Given the description of an element on the screen output the (x, y) to click on. 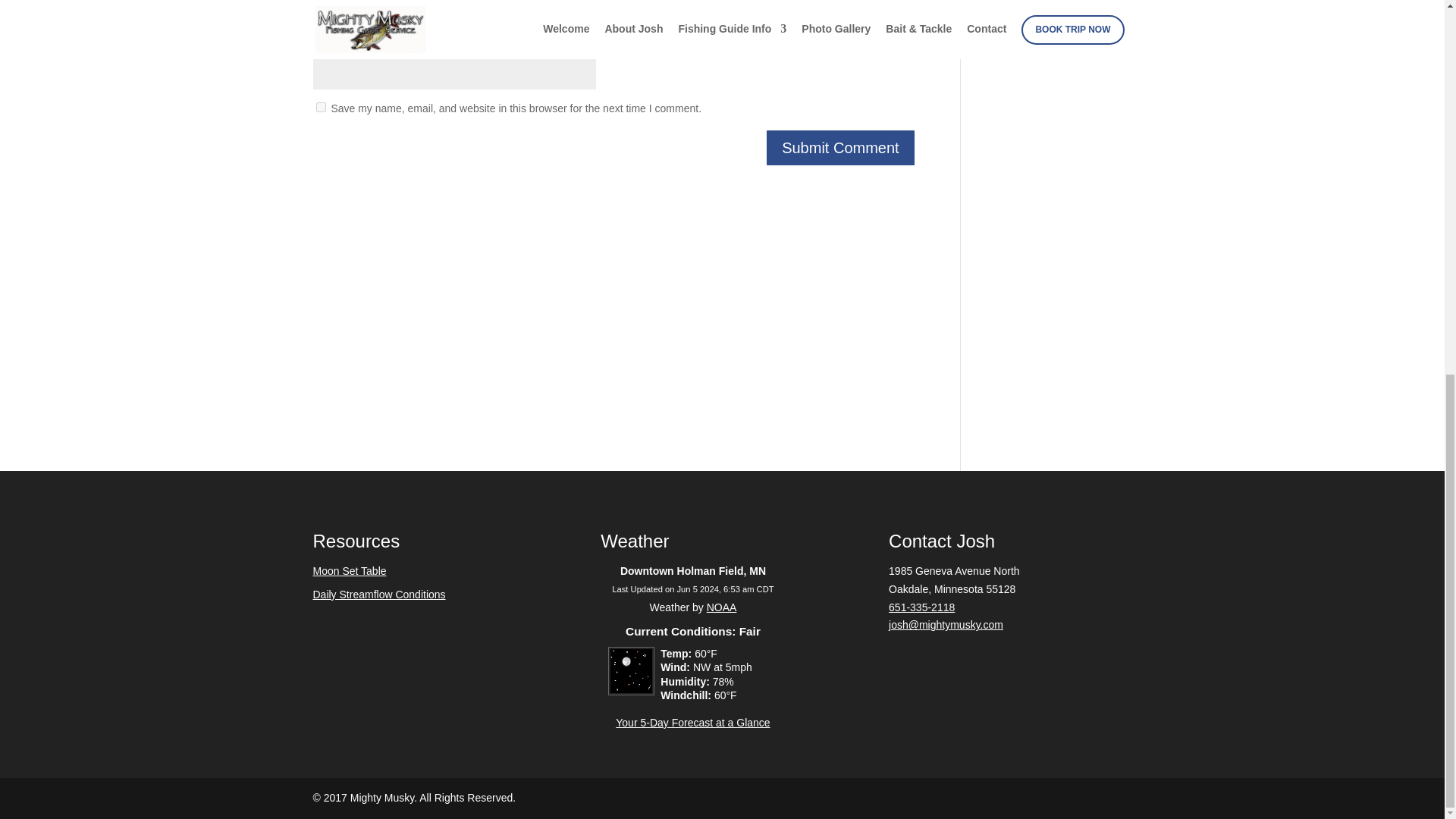
Submit Comment (840, 147)
Click for your 5-day forecast. (692, 722)
NOAA (721, 607)
NOAA's National Weather Service (721, 607)
651-335-2118 (921, 607)
Your 5-Day Forecast at a Glance (692, 722)
Moon Set Table (349, 571)
Submit Comment (840, 147)
yes (319, 107)
Daily Streamflow Conditions (1057, 2)
Click for your 5-day forecast. (626, 691)
Daily Streamflow Conditions (379, 594)
